Given the description of an element on the screen output the (x, y) to click on. 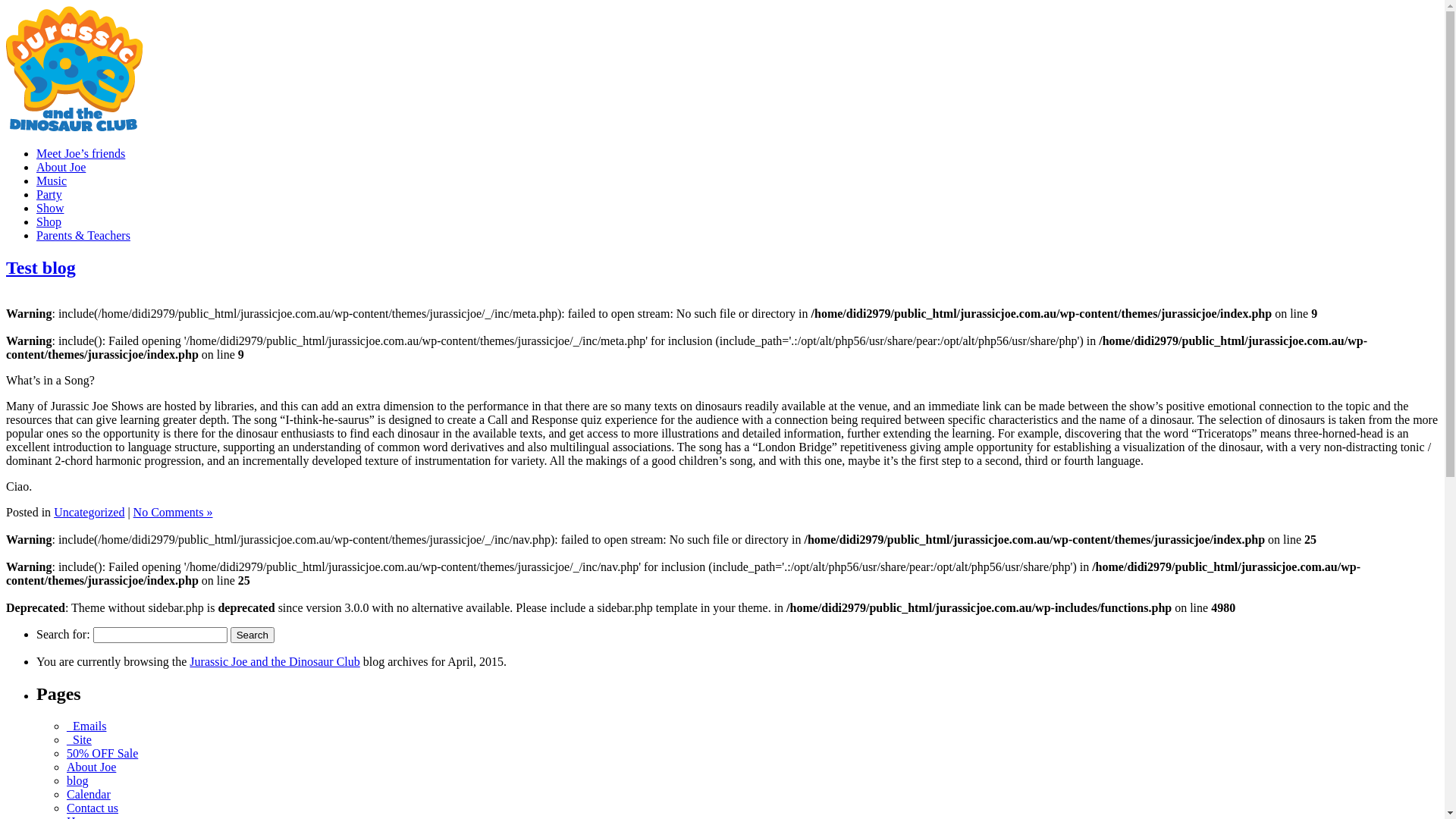
Show Element type: text (49, 207)
Jurassic Joe and the Dinosaur Club Element type: text (274, 661)
Parents & Teachers Element type: text (83, 235)
Contact us Element type: text (92, 807)
blog Element type: text (76, 780)
About Joe Element type: text (91, 766)
Uncategorized Element type: text (88, 511)
Test blog Element type: text (40, 267)
_Emails Element type: text (86, 725)
About Joe Element type: text (60, 166)
Shop Element type: text (48, 221)
50% OFF Sale Element type: text (102, 752)
_Site Element type: text (78, 739)
Music Element type: text (51, 180)
Party Element type: text (49, 194)
Jurassic Joe and the Dinosaur Club Element type: hover (74, 127)
Search Element type: text (252, 635)
Calendar Element type: text (88, 793)
